Given the description of an element on the screen output the (x, y) to click on. 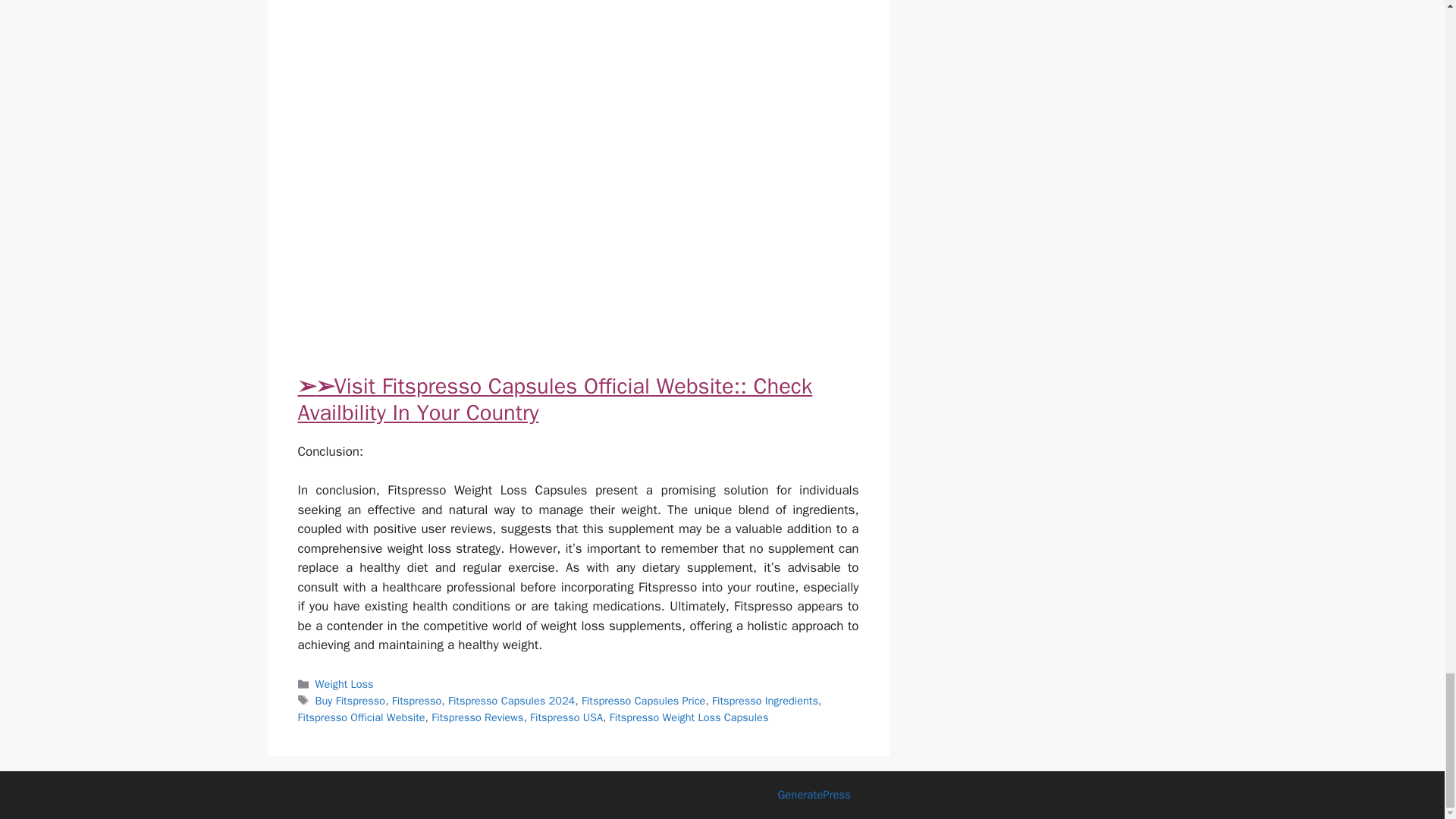
Buy Fitspresso (350, 700)
Fitspresso Capsules Price (642, 700)
Fitspresso Official Website (361, 716)
Fitspresso Ingredients (764, 700)
Fitspresso (416, 700)
Fitspresso USA (565, 716)
Fitspresso Reviews (476, 716)
Weight Loss (344, 684)
Fitspresso Weight Loss Capsules (689, 716)
Fitspresso Capsules 2024 (511, 700)
